Given the description of an element on the screen output the (x, y) to click on. 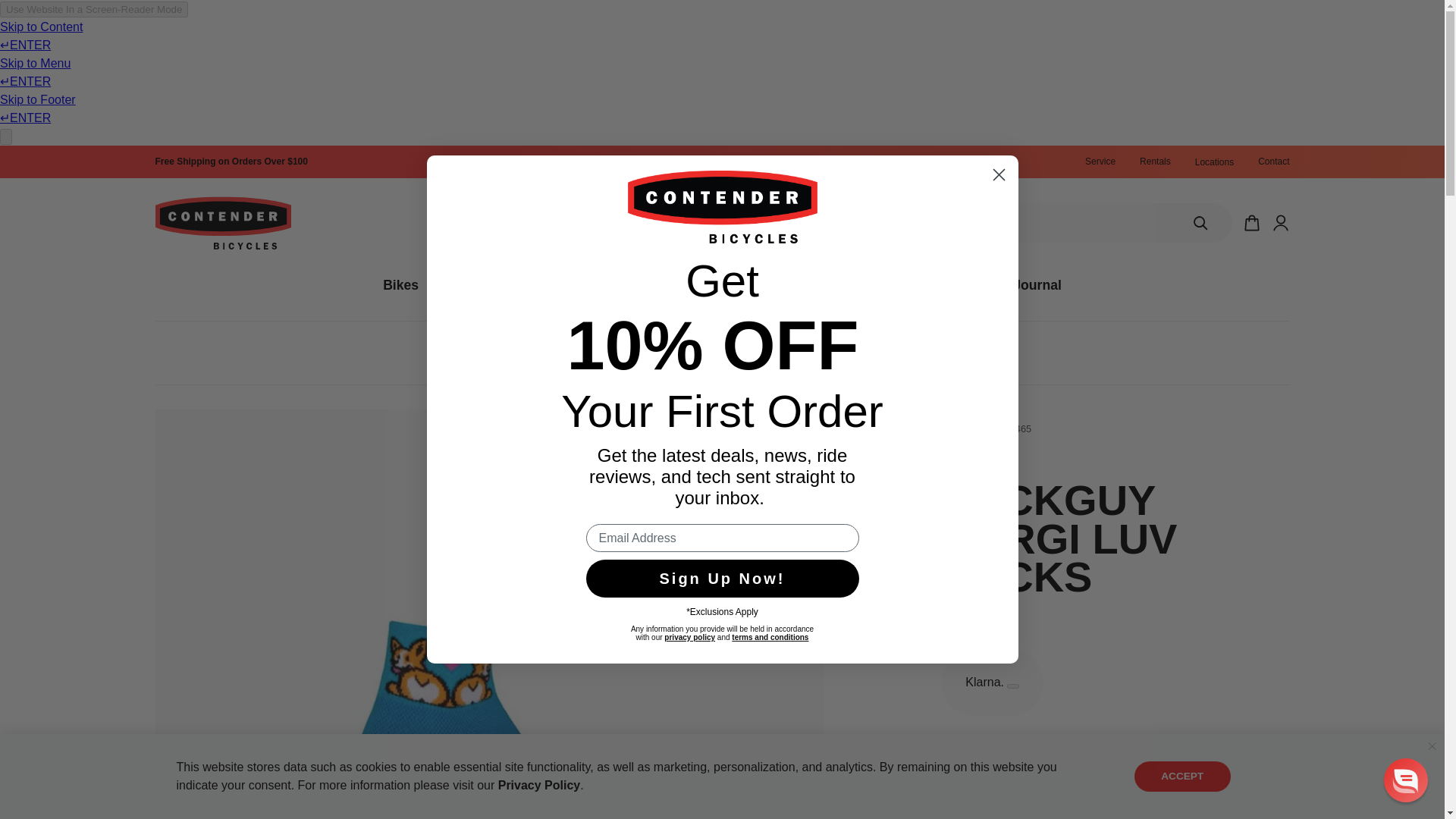
Contact (1272, 161)
Locations (1214, 161)
SKIP TO CONTENT (31, 163)
Bikes (400, 284)
Shop (650, 352)
Close dialog 1 (998, 174)
SEARCH (1200, 222)
Service (1099, 161)
Rentals (1155, 161)
SHIPPING (230, 161)
PRIVACY POLICY (538, 784)
Home (605, 352)
